Given the description of an element on the screen output the (x, y) to click on. 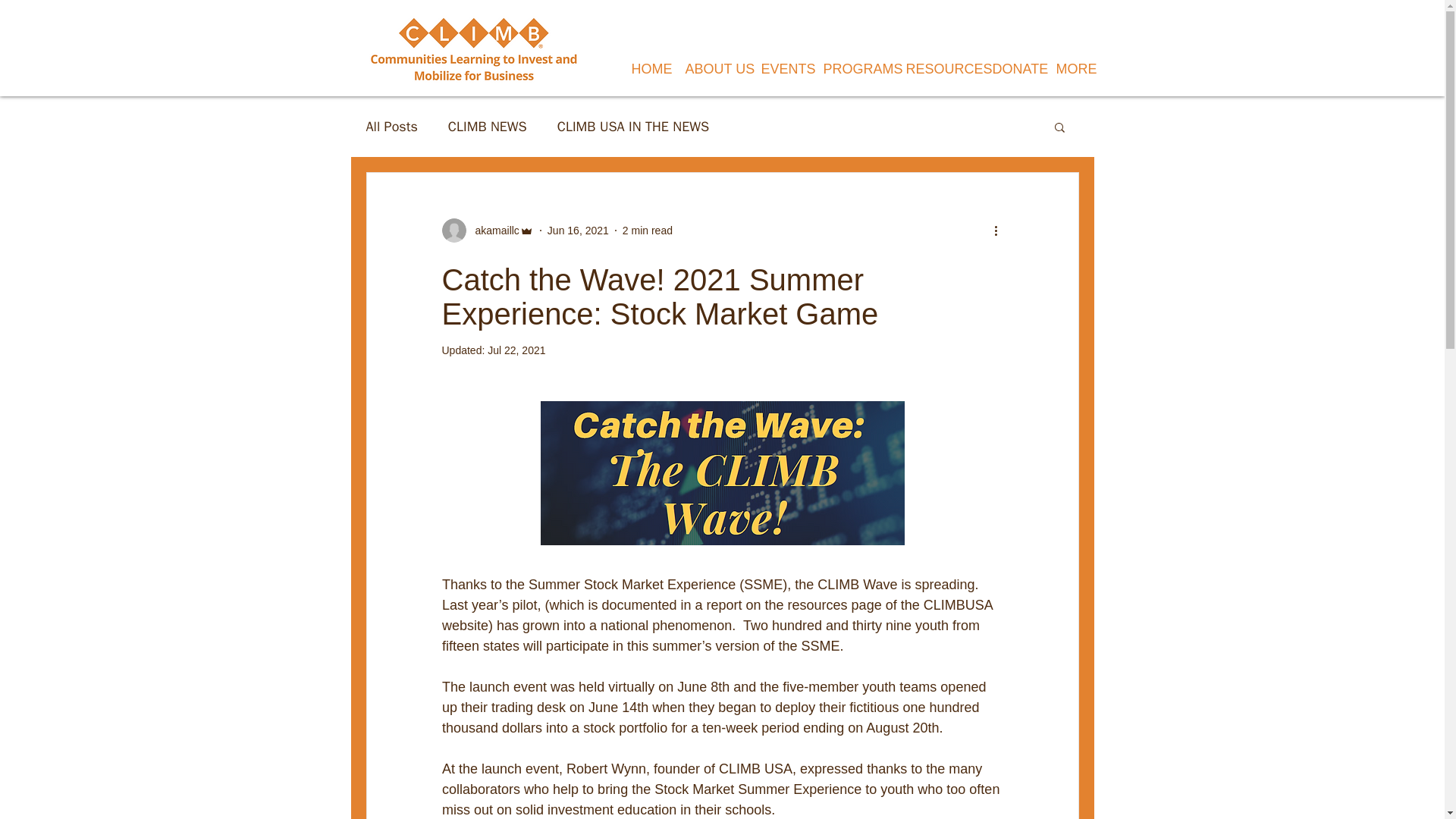
CLIMB NEWS (487, 126)
akamaillc (491, 230)
PROGRAMS (851, 69)
akamaillc (486, 230)
2 min read (647, 230)
Jun 16, 2021 (577, 230)
ABOUT US (710, 69)
HOME (647, 69)
RESOURCES (938, 69)
CLIMB USA IN THE NEWS (633, 126)
Jul 22, 2021 (515, 349)
EVENTS (779, 69)
DONATE (1013, 69)
All Posts (390, 126)
